Given the description of an element on the screen output the (x, y) to click on. 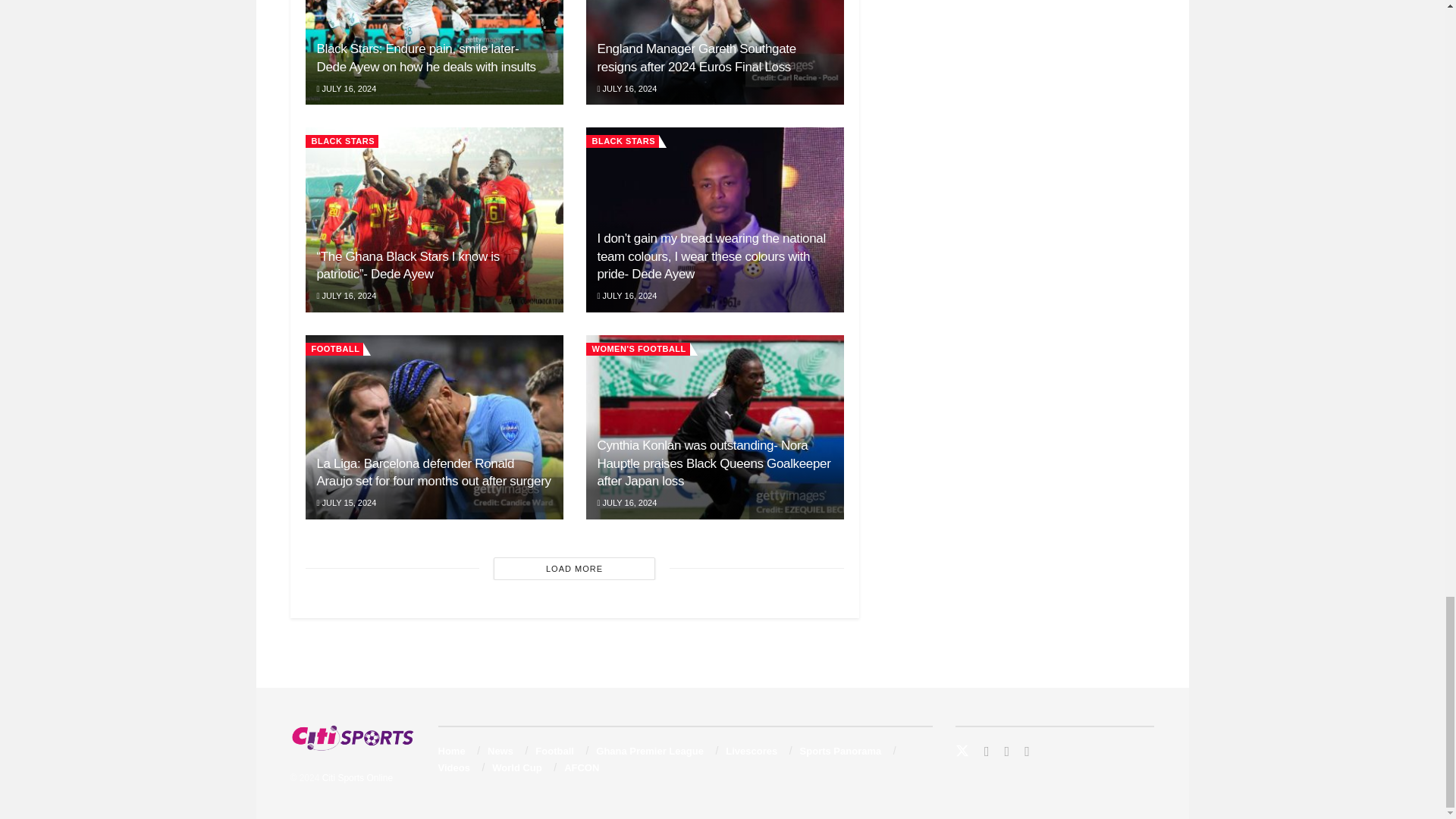
Citi Sports Online (357, 777)
